Given the description of an element on the screen output the (x, y) to click on. 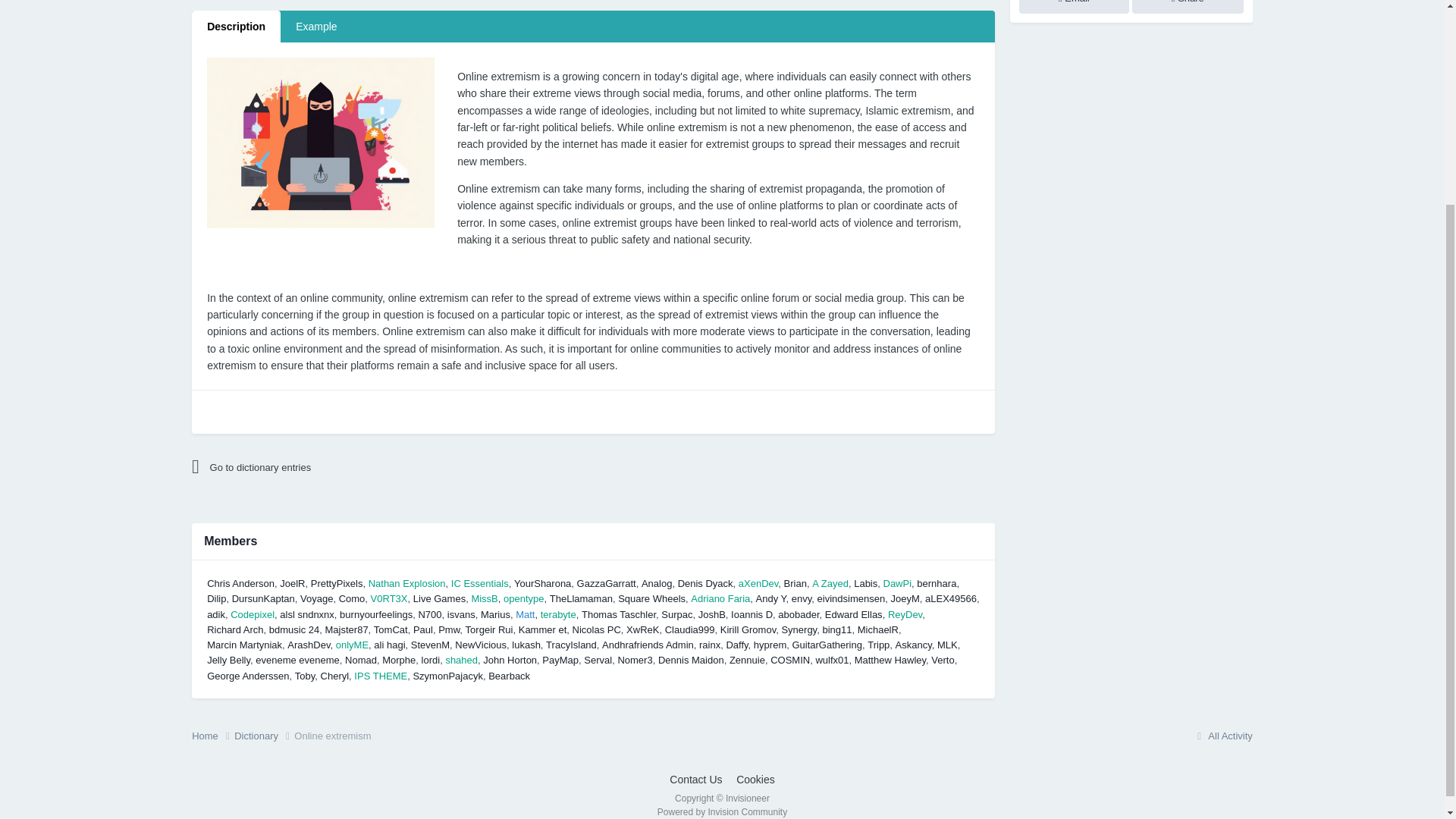
Go to PrettyPixels's profile (336, 583)
Go to GazzaGarratt's profile (606, 583)
Go to JoelR's profile (291, 583)
Go to Nathan Explosion's profile (406, 583)
Go to Dictionary (324, 467)
Go to Chris Anderson's profile (240, 583)
Go to YourSharona's profile (541, 583)
Example (316, 26)
Go to IC Essentials's profile (479, 583)
Go to dictionary entries (324, 467)
